Given the description of an element on the screen output the (x, y) to click on. 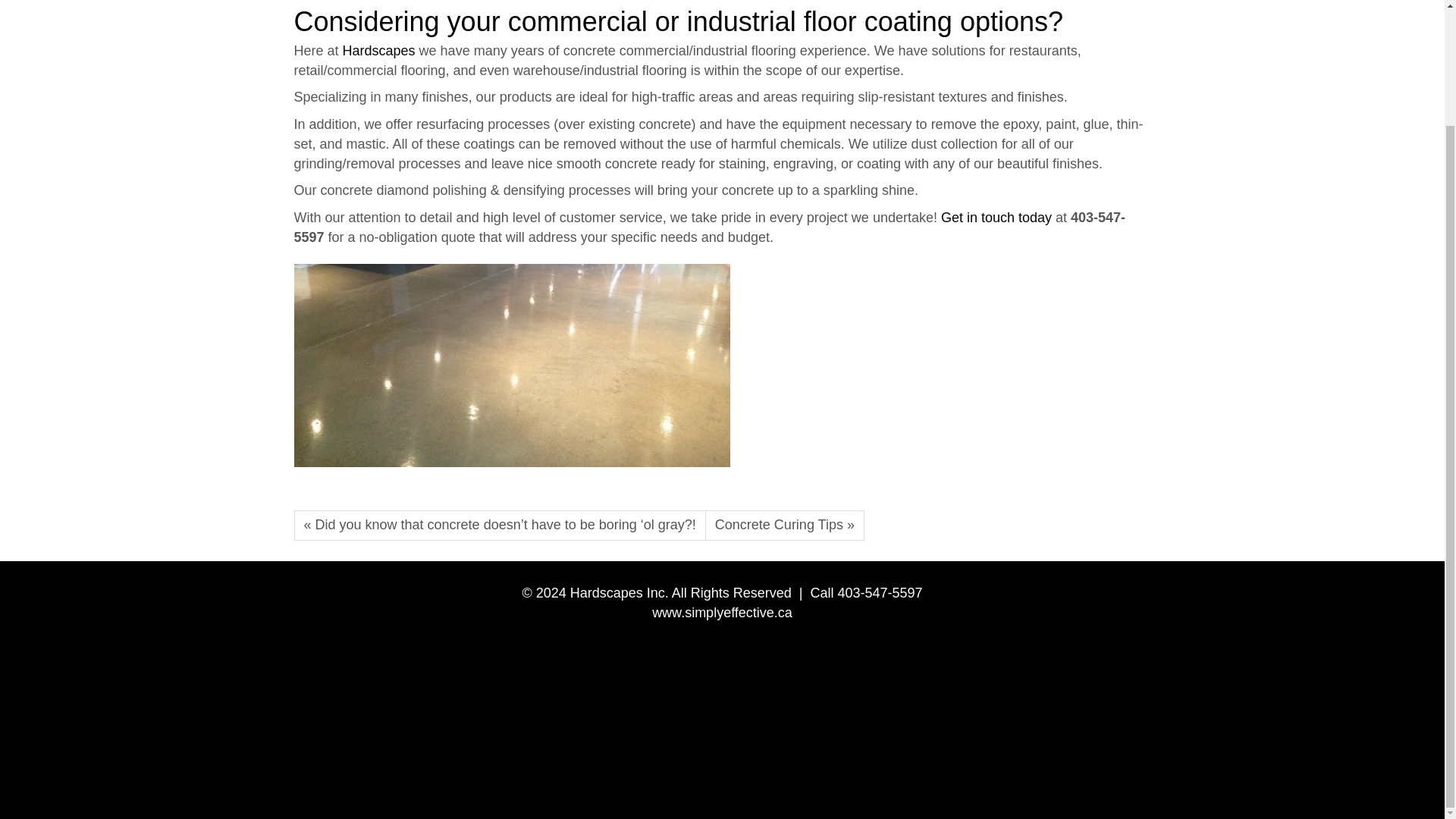
Hardscapes (380, 50)
www.simplyeffective.ca (722, 612)
Get in touch today (995, 217)
Concrete Curing Tips (784, 525)
